Given the description of an element on the screen output the (x, y) to click on. 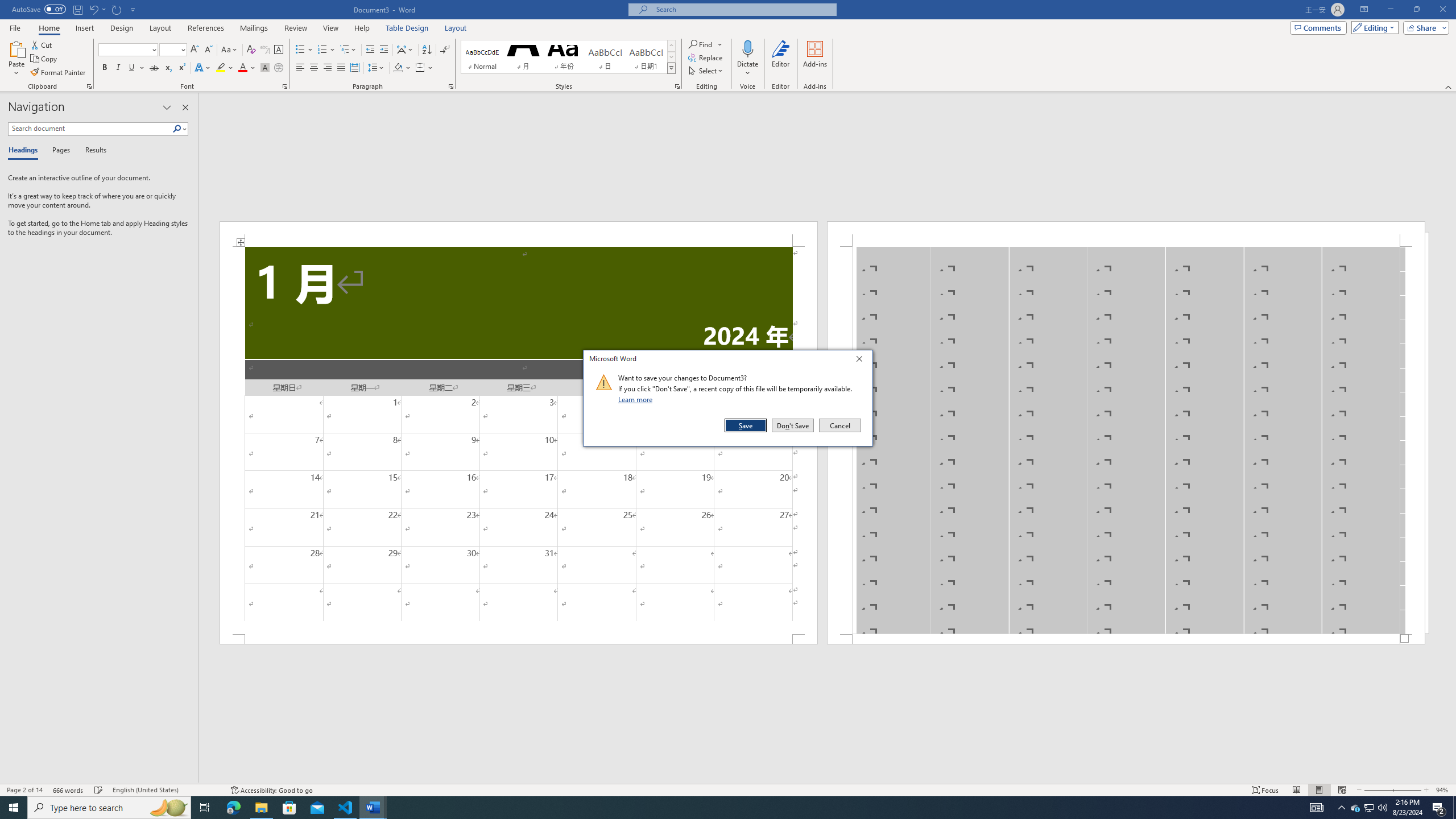
Start (13, 807)
Task Pane Options (167, 107)
Replace... (705, 56)
Mailings (253, 28)
Font Size (169, 49)
Language English (United States) (165, 790)
Bullets (300, 49)
Subscript (167, 67)
Find (700, 44)
Paste (16, 58)
Repeat Shrink Font (117, 9)
Help (361, 28)
References (205, 28)
Page Number Page 2 of 14 (24, 790)
